Given the description of an element on the screen output the (x, y) to click on. 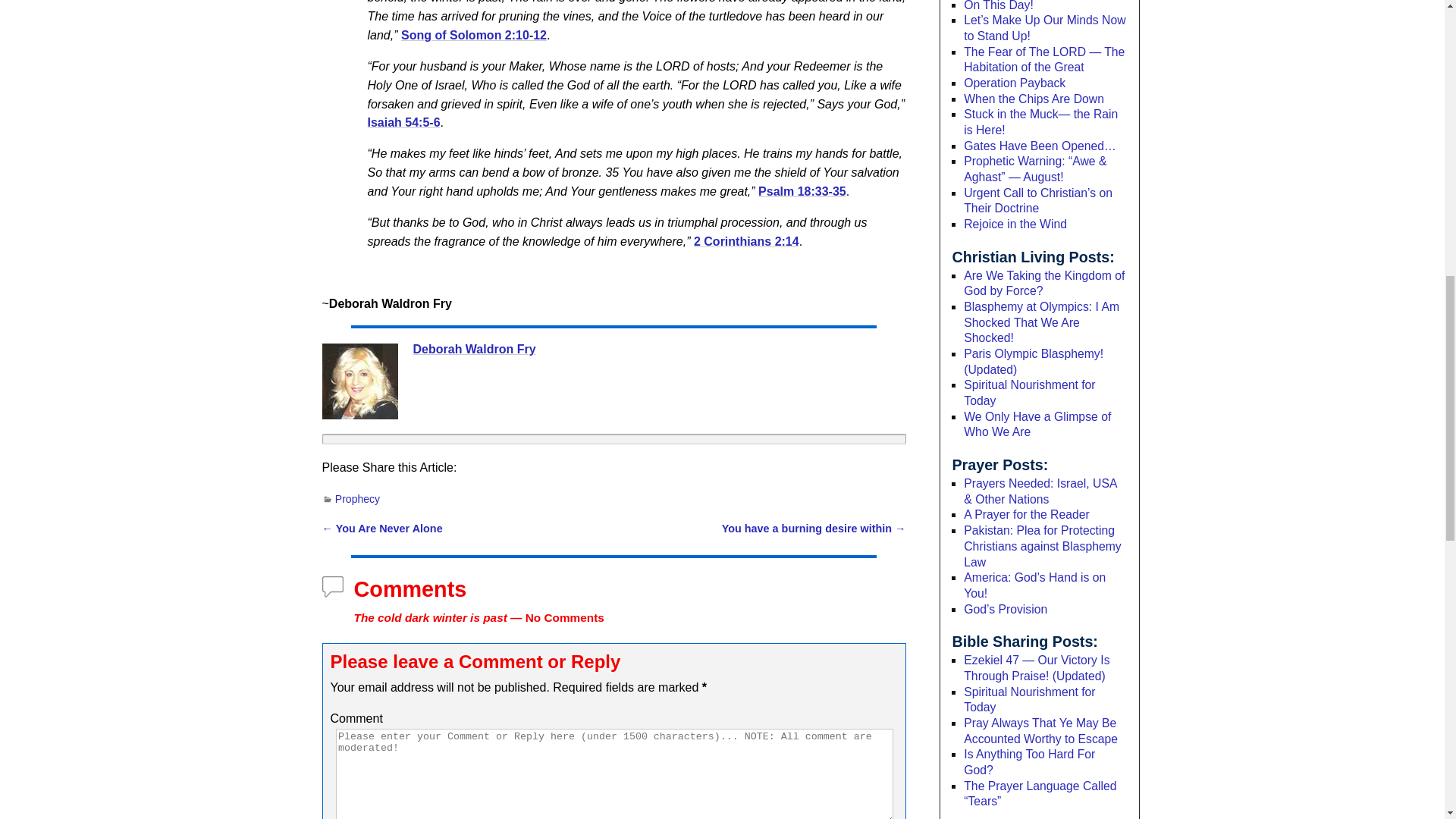
Deborah Waldron Fry (473, 349)
Deborah Waldron Fry (359, 381)
